Given the description of an element on the screen output the (x, y) to click on. 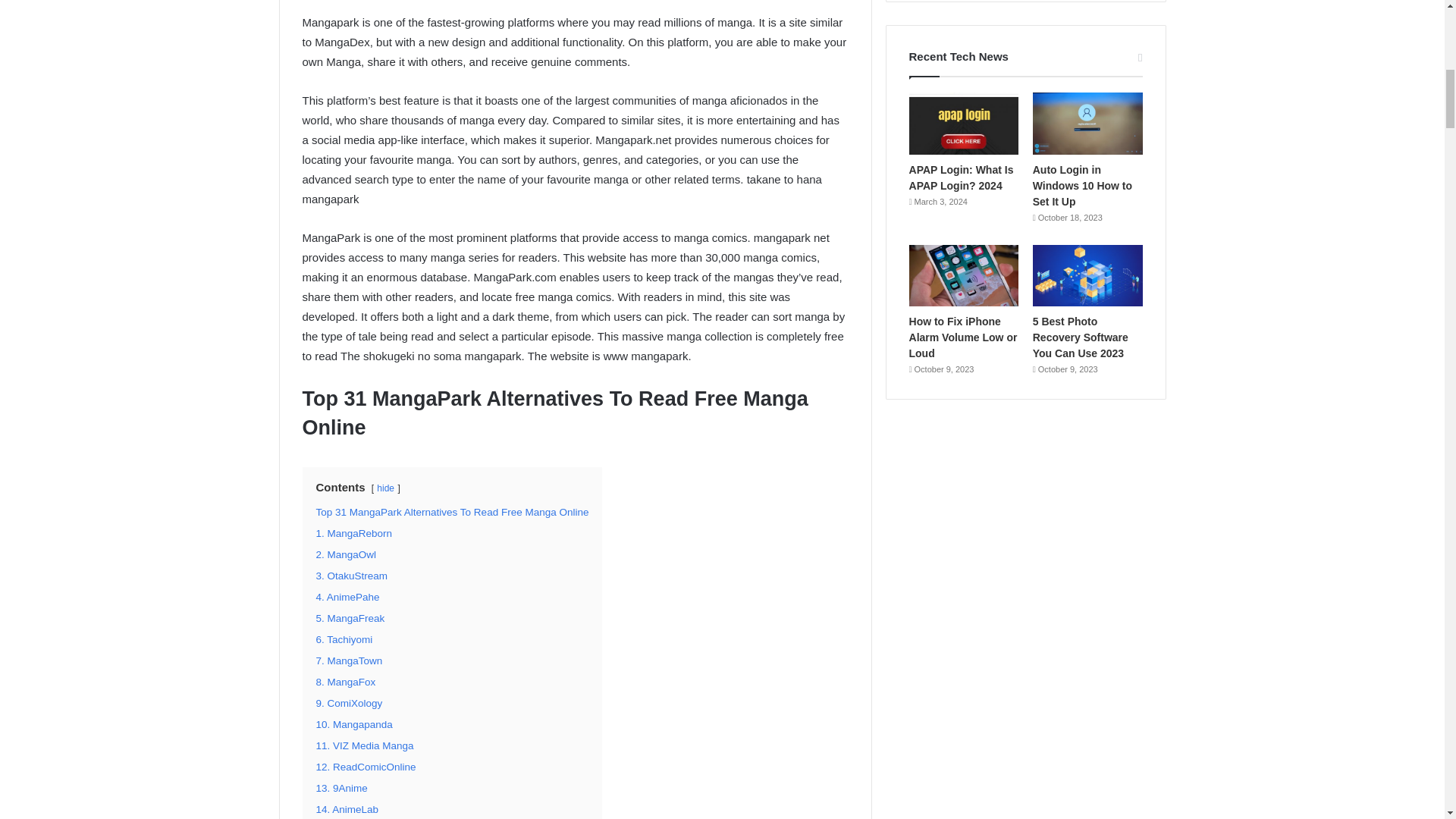
3. OtakuStream (351, 575)
6. Tachiyomi (343, 639)
10. Mangapanda (353, 724)
7. MangaTown (348, 660)
5. MangaFreak (349, 618)
2. MangaOwl (345, 554)
hide (385, 488)
8. MangaFox (345, 681)
9. ComiXology (348, 703)
1. MangaReborn (353, 532)
4. AnimePahe (346, 596)
Top 31 MangaPark Alternatives To Read Free Manga Online (451, 511)
